Given the description of an element on the screen output the (x, y) to click on. 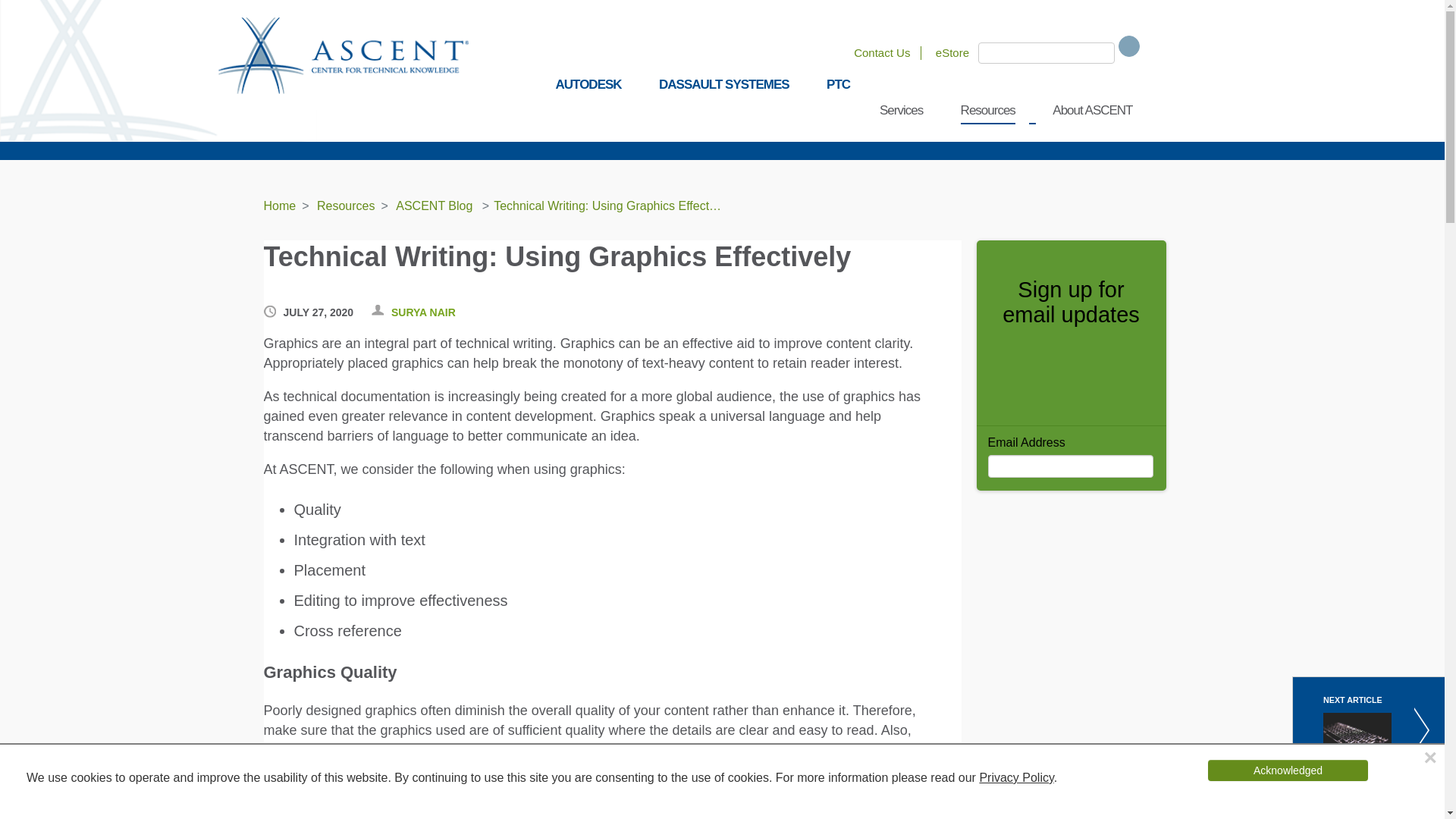
AUTODESK (587, 85)
Services (901, 111)
PTC (838, 85)
Sample Chapters (437, 135)
DASSAULT SYSTEMES (724, 85)
eStore (951, 51)
RESOURCES (325, 135)
stagingdemo.ascented.com (343, 55)
About ASCENT (1092, 111)
Resources (987, 111)
Contact Us (881, 51)
